Given the description of an element on the screen output the (x, y) to click on. 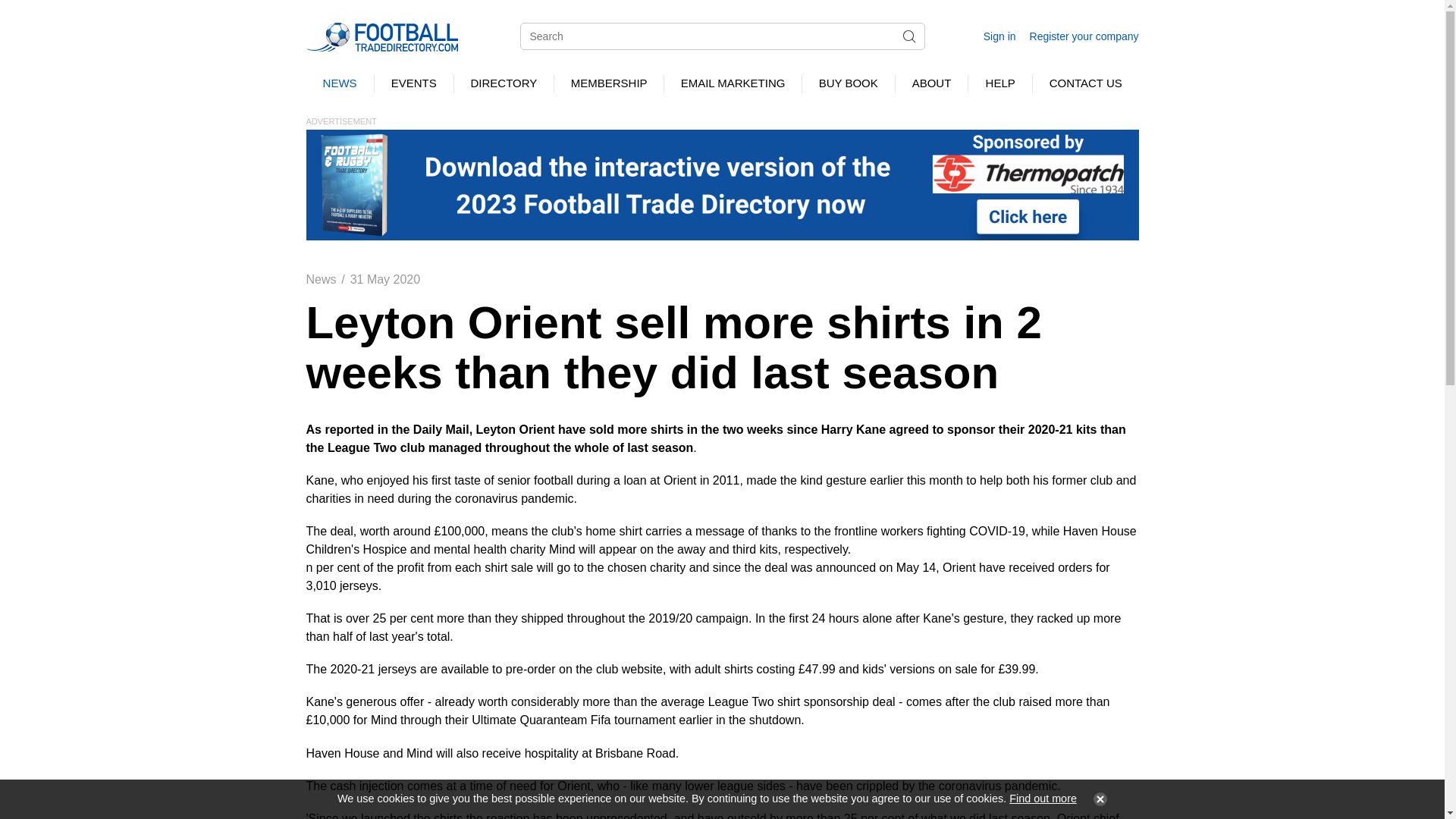
EVENTS (413, 83)
NEWS (339, 83)
DIRECTORY (503, 83)
Register your company (1083, 35)
2023 download directory (721, 183)
Continue (1096, 799)
Search (908, 36)
